Given the description of an element on the screen output the (x, y) to click on. 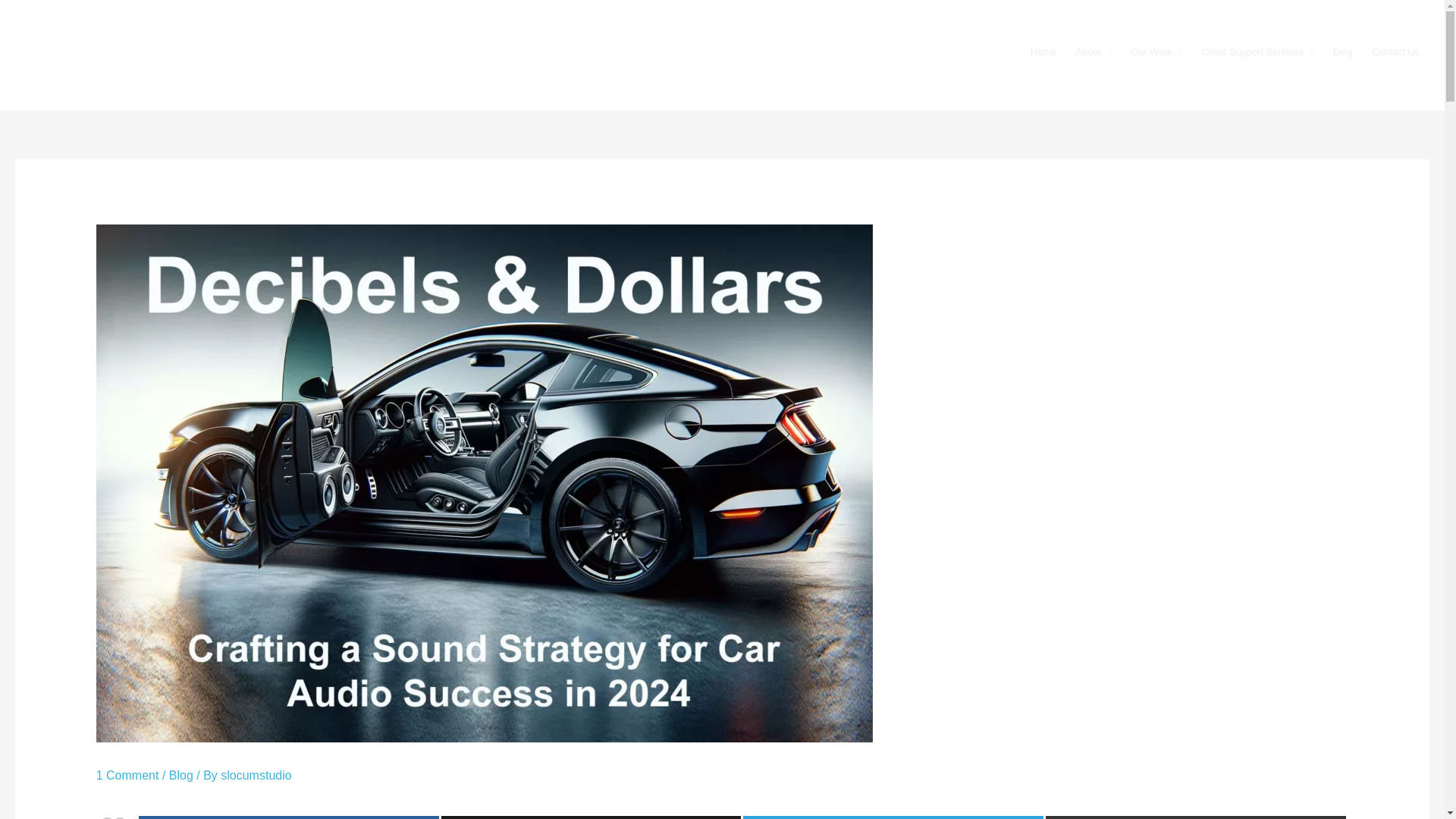
About (1093, 52)
Client Support Services (1257, 52)
View all posts by slocumstudio (256, 775)
Contact Us (1395, 52)
Blog (1342, 52)
Home (1042, 52)
Our Work (1156, 52)
